Given the description of an element on the screen output the (x, y) to click on. 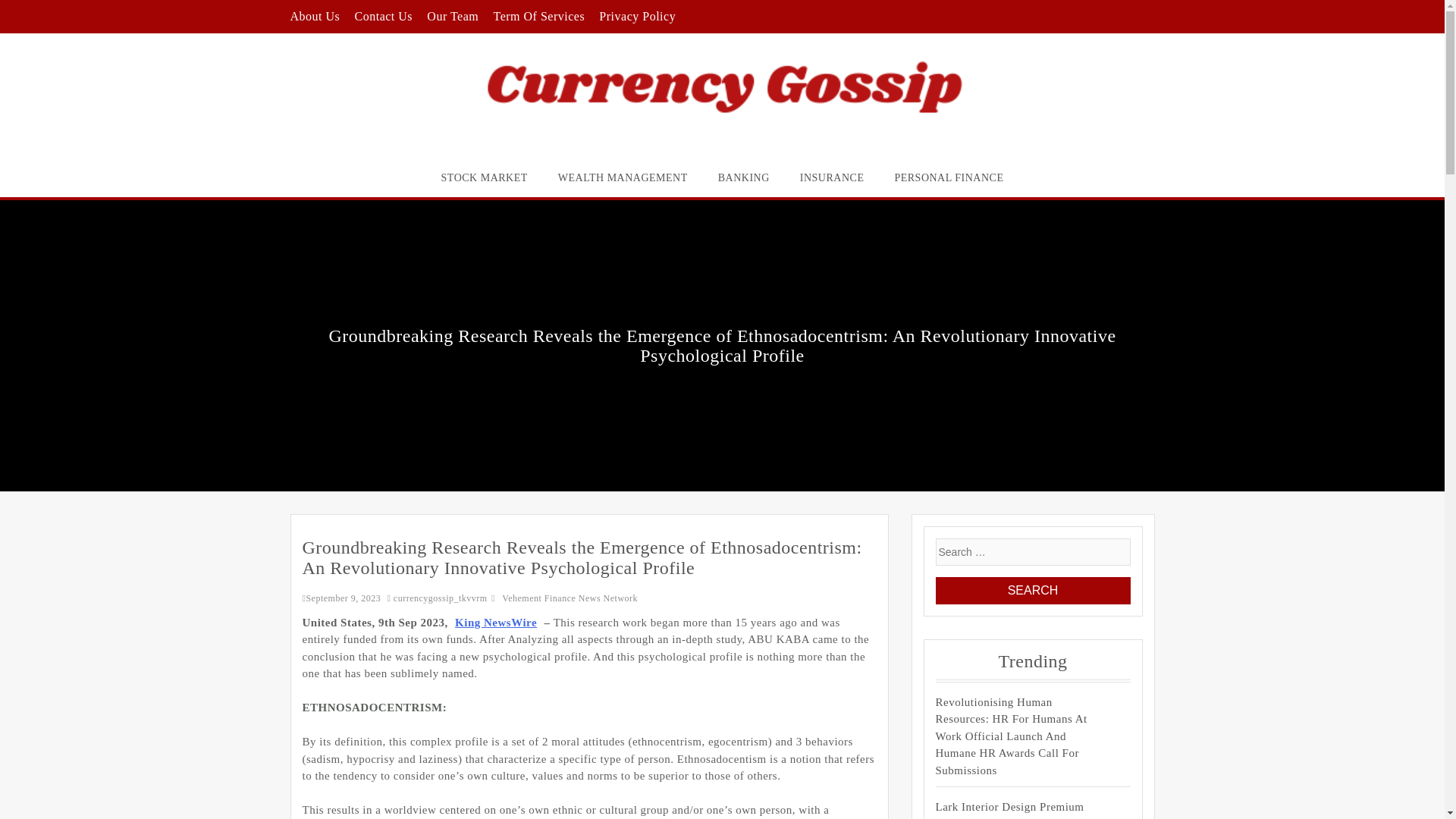
Search (1033, 590)
WEALTH MANAGEMENT (623, 177)
PERSONAL FINANCE (948, 177)
September 9, 2023 (340, 597)
Search (1033, 590)
Privacy Policy (636, 15)
Vehement Finance News Network (569, 597)
INSURANCE (831, 177)
Search (1033, 590)
BANKING (743, 177)
Contact Us (384, 15)
Term Of Services (539, 15)
